Given the description of an element on the screen output the (x, y) to click on. 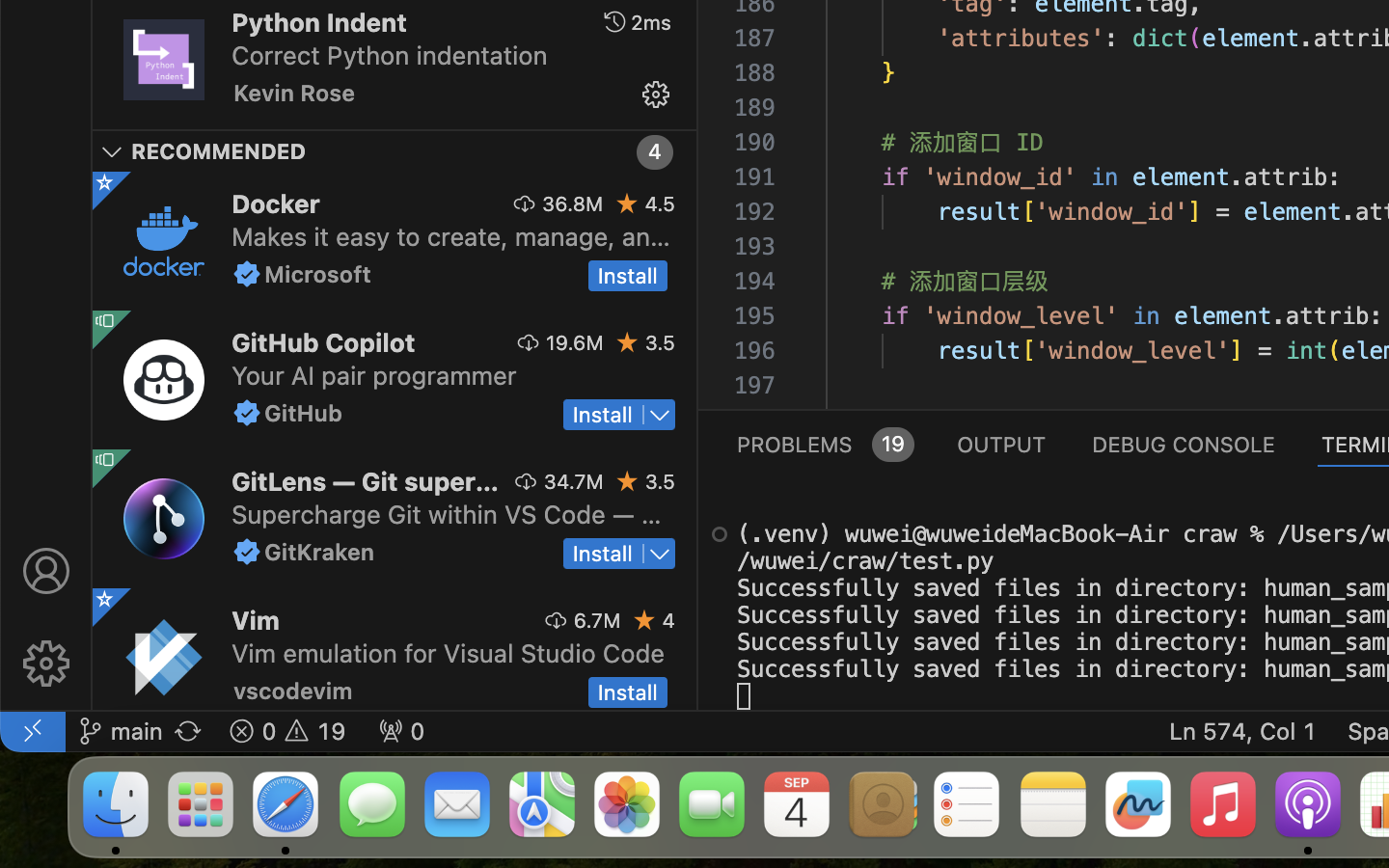
GitKraken Element type: AXStaticText (320, 551)
4.5 Element type: AXStaticText (659, 203)
0 PROBLEMS 19 Element type: AXRadioButton (824, 443)
 Element type: AXGroup (46, 663)
RECOMMENDED Element type: AXStaticText (218, 150)
